Given the description of an element on the screen output the (x, y) to click on. 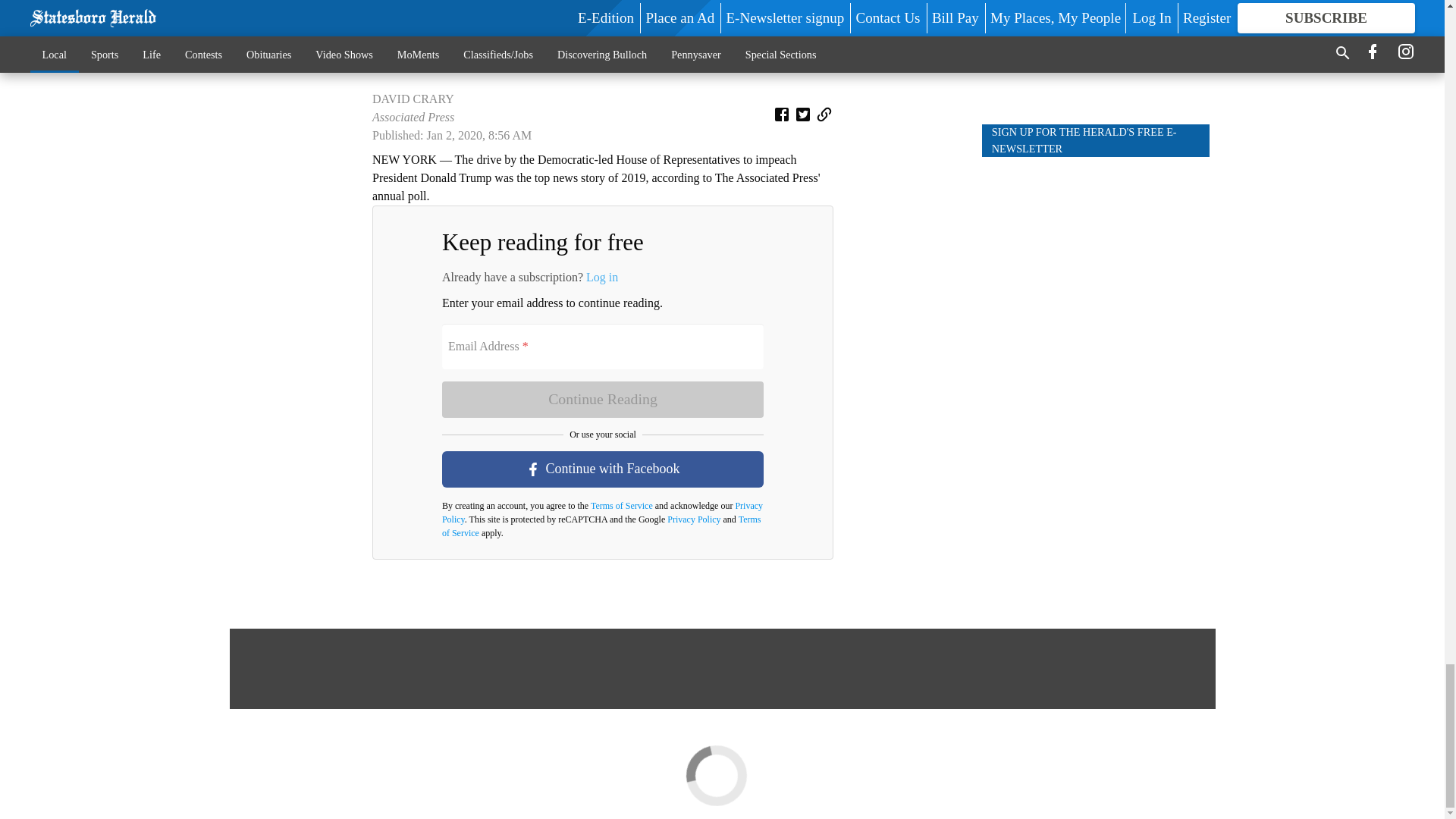
Signup Widget Embed (1095, 377)
